Given the description of an element on the screen output the (x, y) to click on. 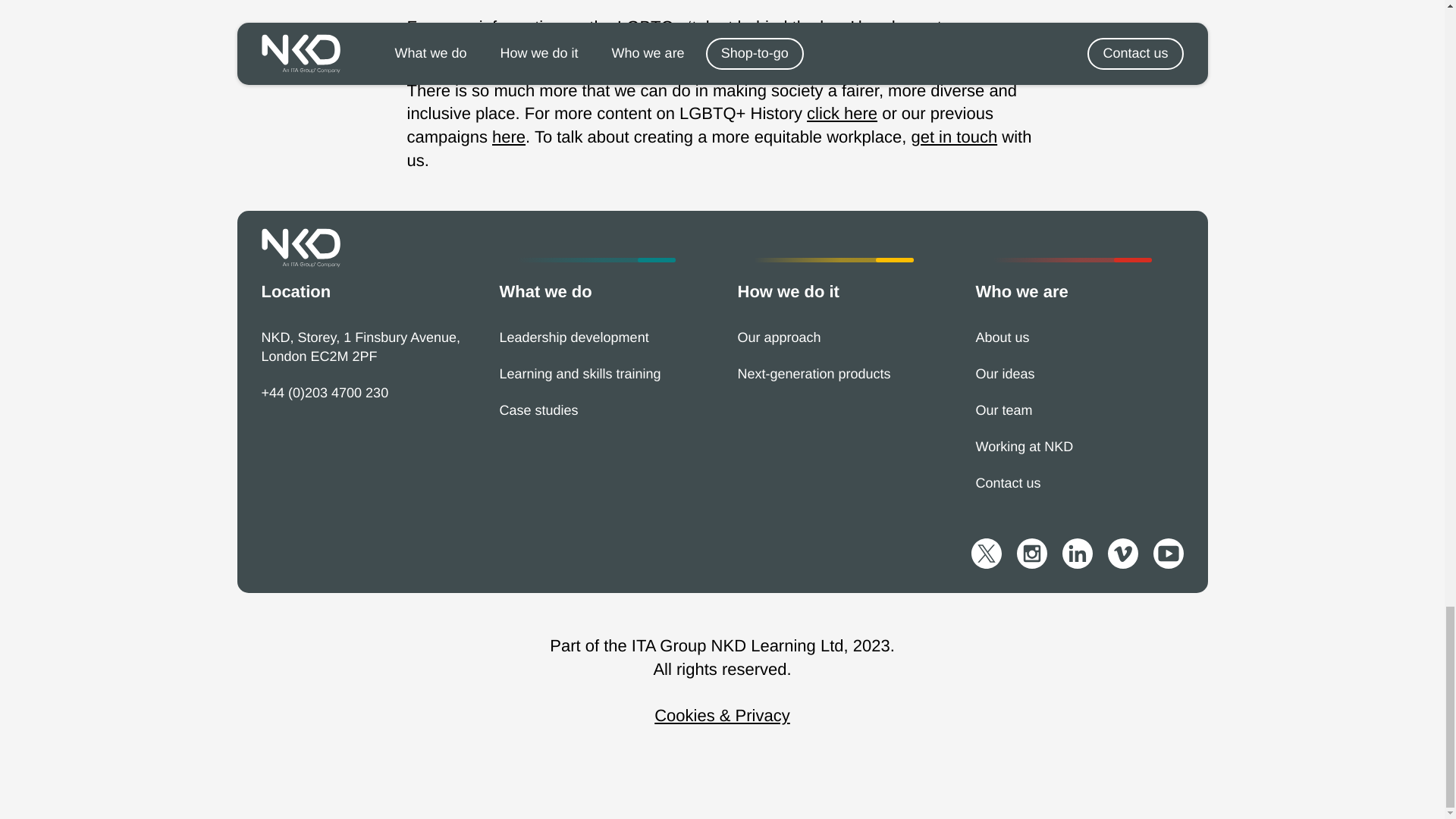
Contact us (1008, 482)
here (508, 136)
Instagram (445, 49)
Our ideas (1004, 373)
Our approach (778, 336)
Working at NKD (1024, 446)
get in touch (954, 136)
Leadership development (573, 336)
Case studies (538, 409)
Learning and skills training (580, 373)
Next-generation products (812, 373)
Our team (1003, 409)
click here (841, 113)
About us (1002, 336)
